Given the description of an element on the screen output the (x, y) to click on. 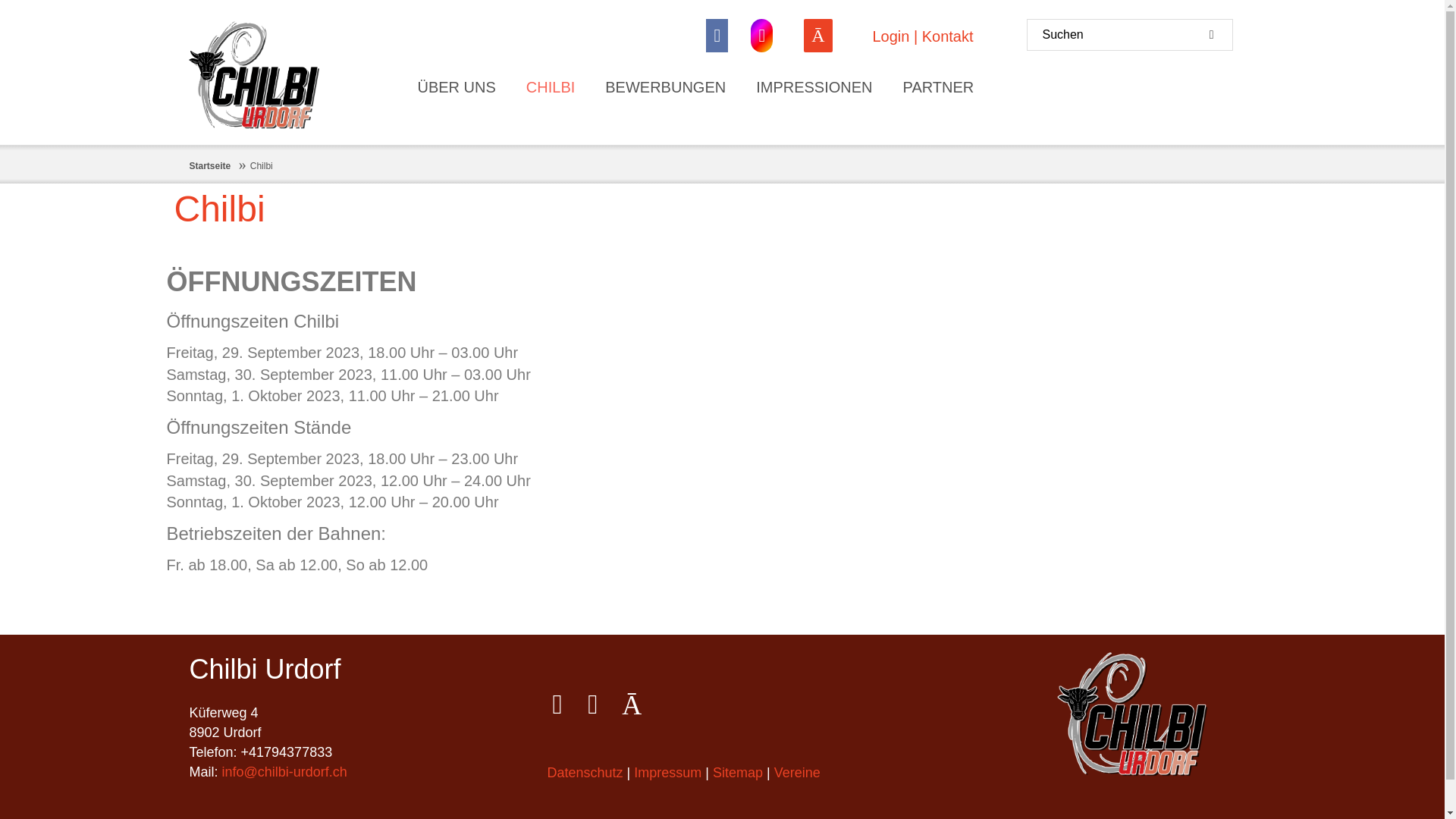
CHILBI Element type: text (550, 87)
Login Element type: text (890, 36)
Sitemap  Element type: text (739, 772)
BEWERBUNGEN Element type: text (665, 87)
Startseite Element type: text (210, 165)
PARTNER Element type: text (938, 87)
info@chilbi-urdorf.ch Element type: text (284, 771)
Impressum Element type: text (667, 772)
Datenschutz Element type: text (587, 772)
Vereine  Element type: text (799, 772)
| Kontakt Element type: text (940, 36)
IMPRESSIONEN Element type: text (814, 87)
